Given the description of an element on the screen output the (x, y) to click on. 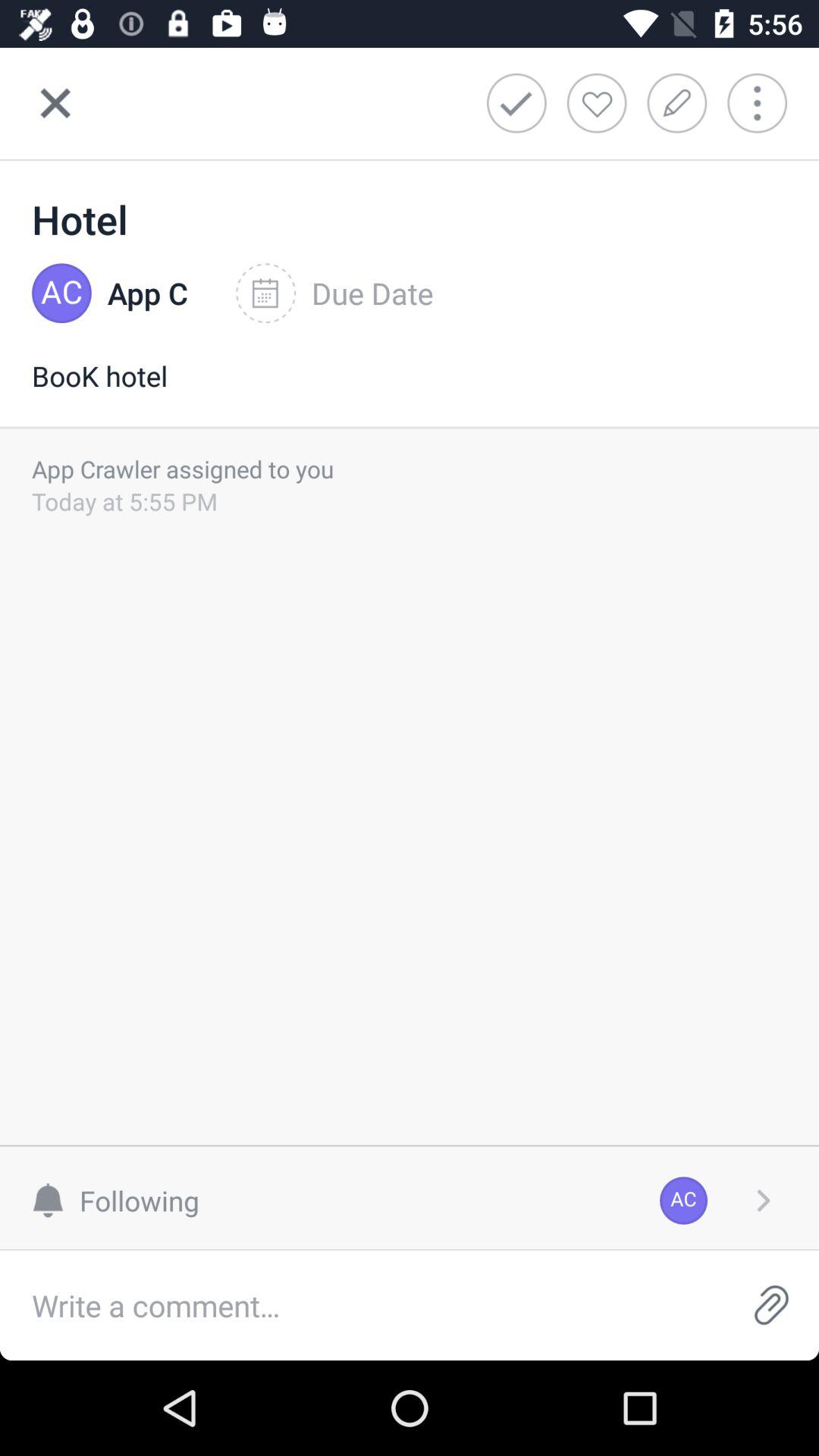
tap the item below the app c (409, 391)
